Given the description of an element on the screen output the (x, y) to click on. 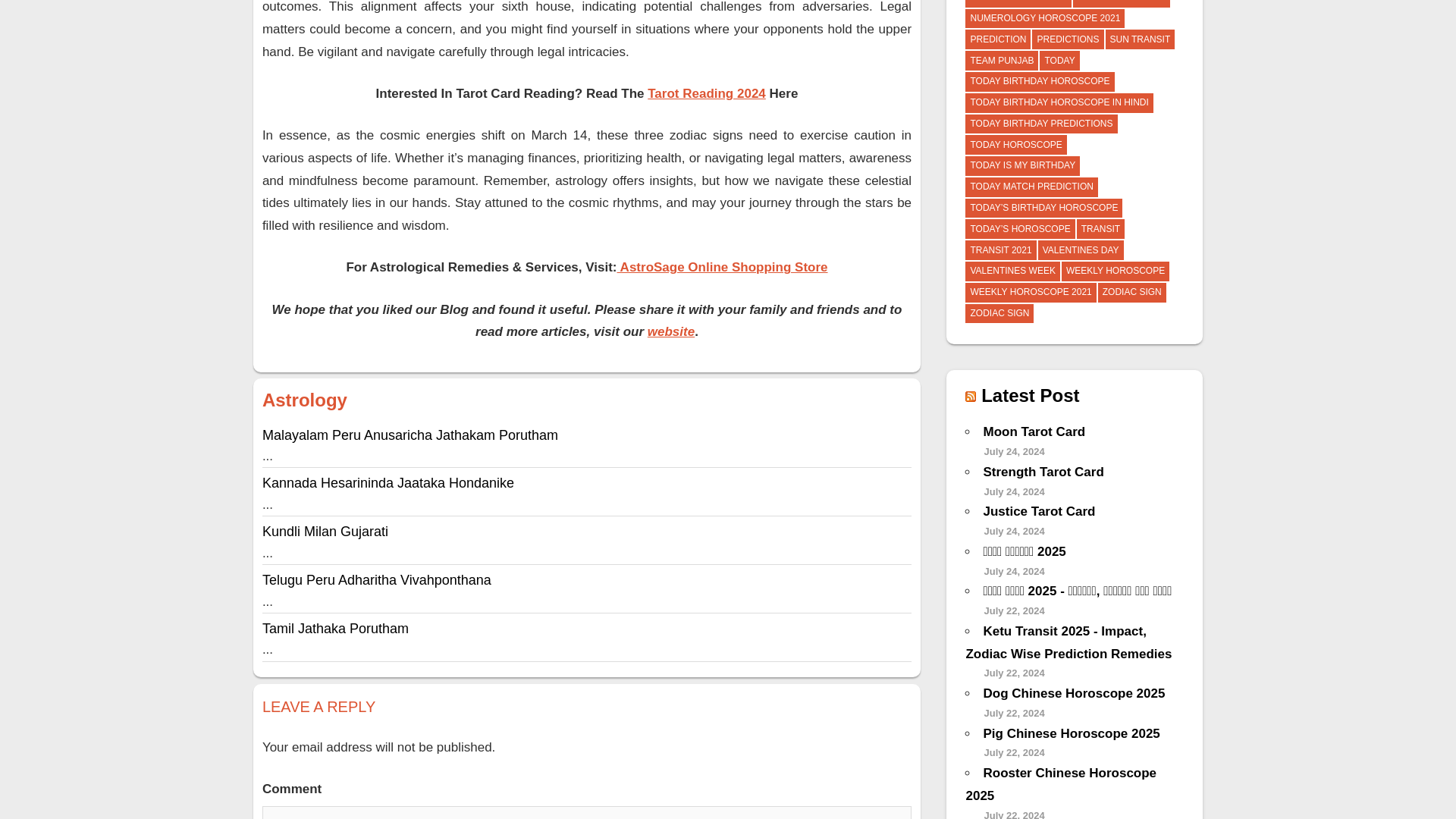
Kannada Hesarininda Jaataka Hondanike (387, 482)
Malayalam Peru Anusaricha Jathakam Porutham (409, 435)
Kundli Milan Gujarati (325, 531)
Tamil Jathaka Porutham (335, 628)
Telugu Peru Adharitha Vivahponthana (377, 580)
